Given the description of an element on the screen output the (x, y) to click on. 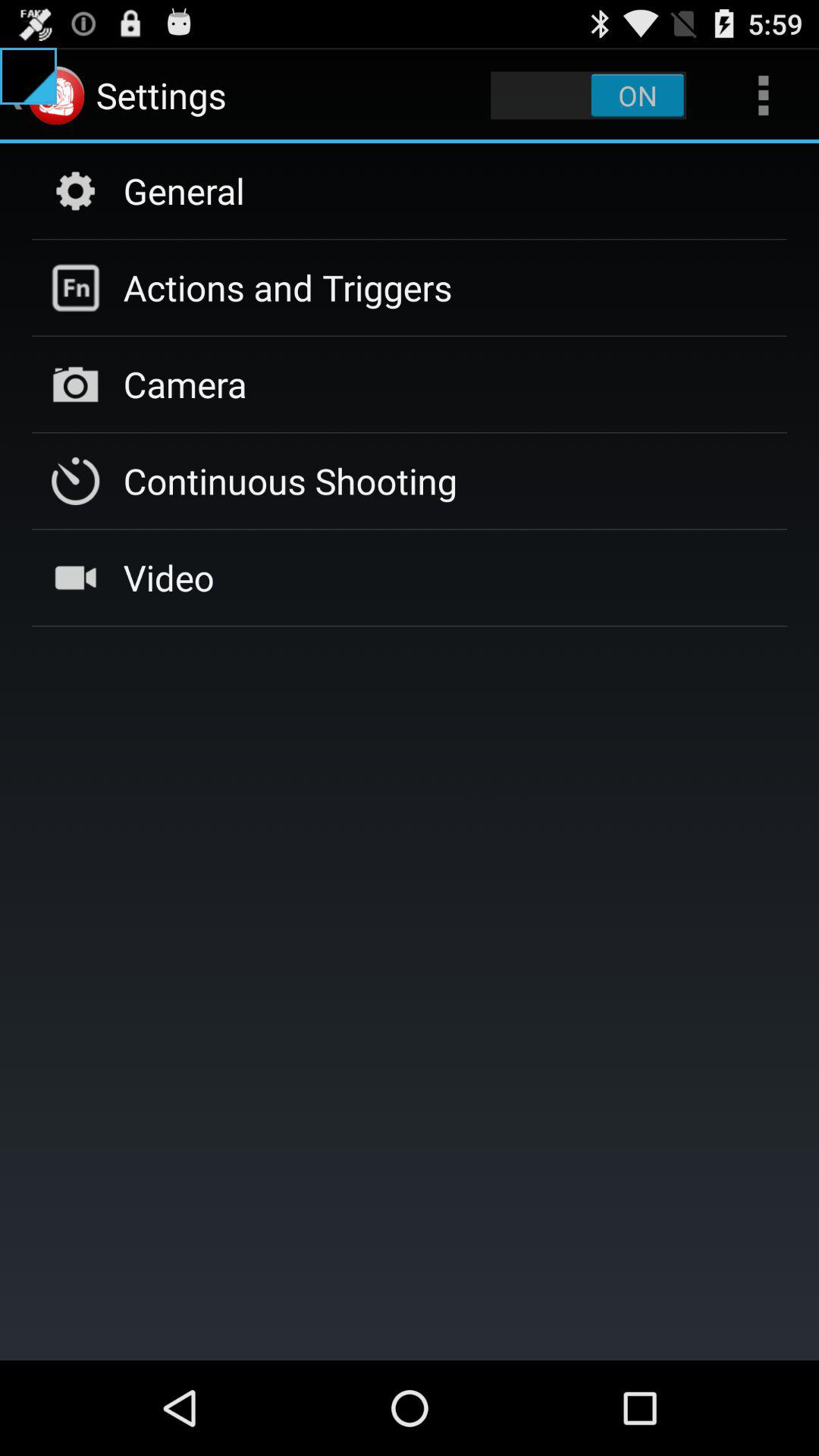
select the general (183, 190)
